Given the description of an element on the screen output the (x, y) to click on. 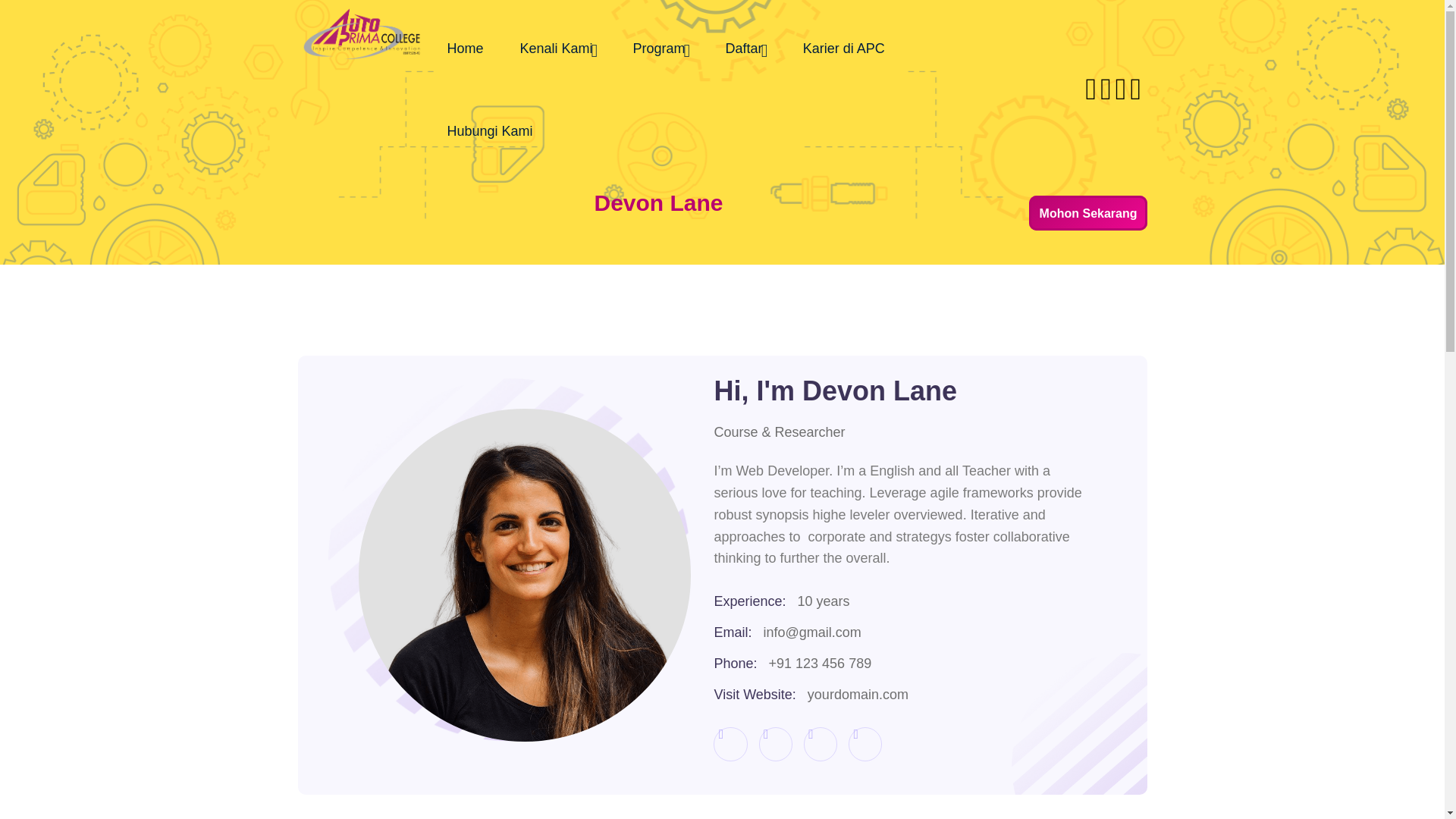
Daftar (745, 48)
Kenali Kami (558, 48)
Karier di APC (843, 48)
Hubungi Kami (490, 131)
yourdomain.com (858, 694)
Program (660, 48)
Mohon Sekarang (1088, 212)
